Given the description of an element on the screen output the (x, y) to click on. 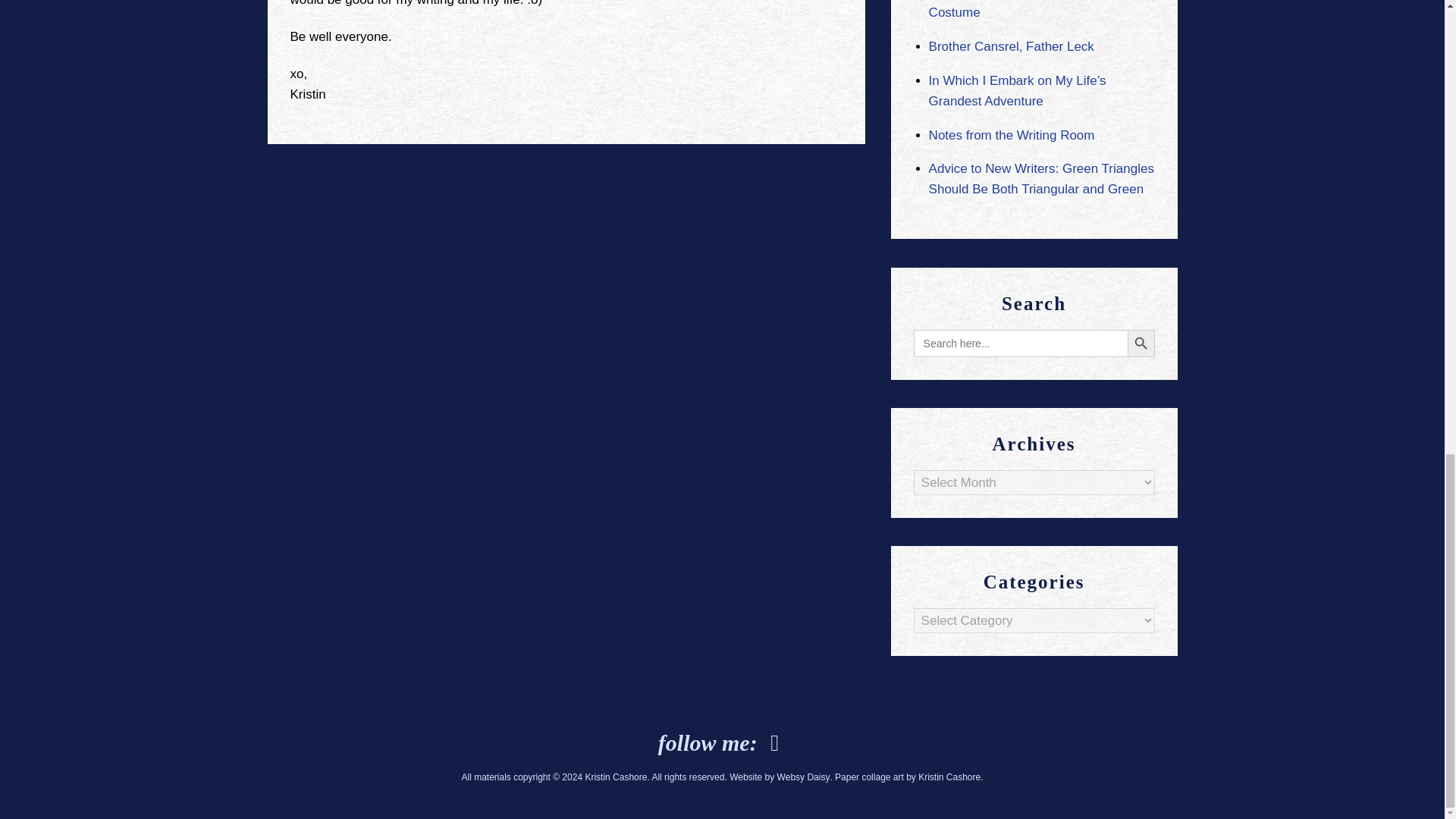
Websy Daisy (803, 777)
Notes from the Writing Room (1011, 134)
Brother Cansrel, Father Leck (1011, 46)
In Which the Author Makes a Library Costume (1032, 9)
Search Button (1140, 343)
